Given the description of an element on the screen output the (x, y) to click on. 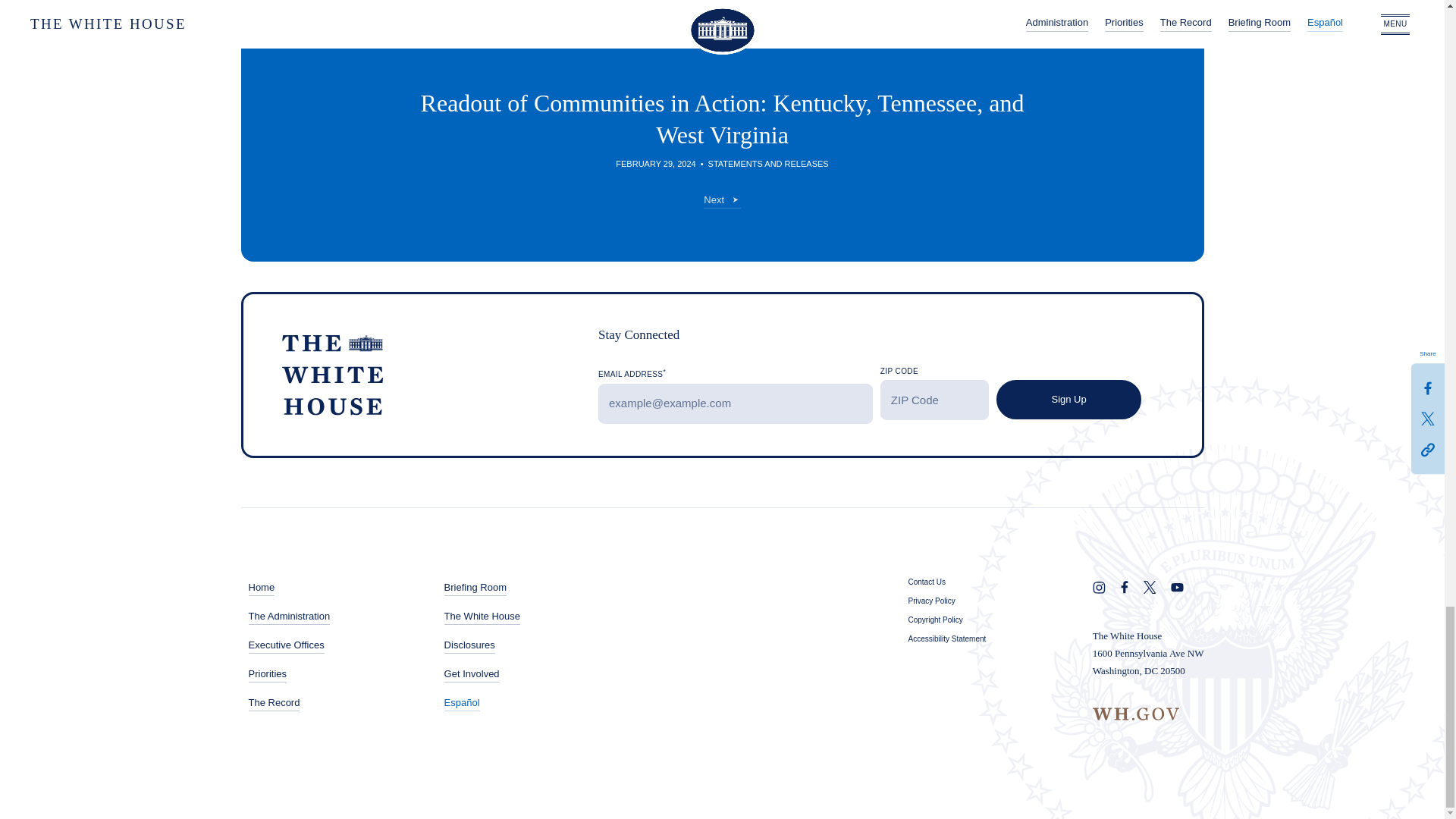
Sign Up (1068, 400)
